Given the description of an element on the screen output the (x, y) to click on. 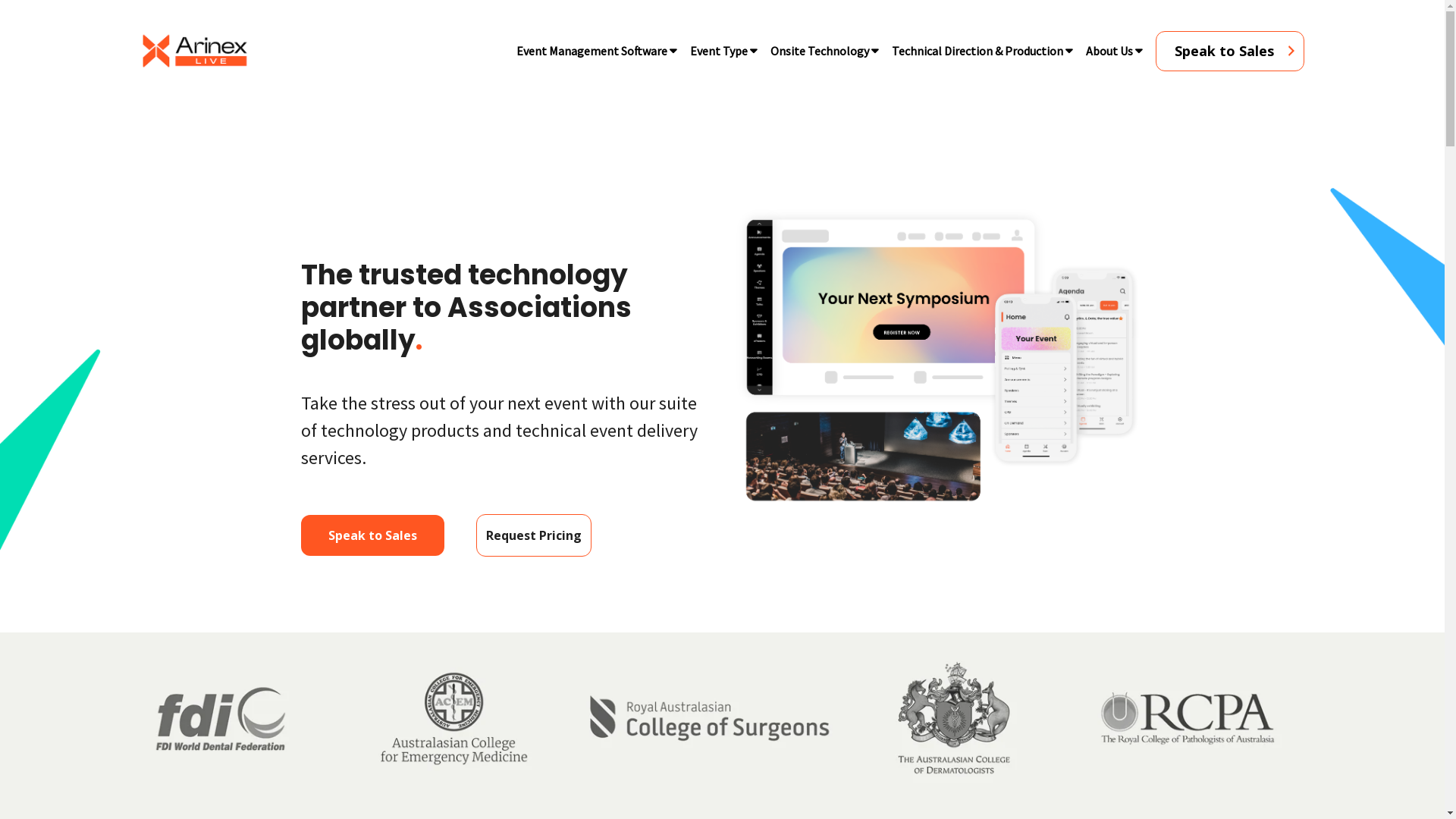
Speak to Sales Element type: text (372, 534)
Request Pricing Element type: text (533, 535)
Onsite Technology Element type: text (818, 50)
Technical Direction & Production Element type: text (976, 50)
JOYN event technology  Element type: hover (938, 357)
Event Type Element type: text (717, 50)
About Us Element type: text (1108, 50)
Speak to Sales Element type: text (1229, 50)
Event Management Software Element type: text (591, 50)
